Given the description of an element on the screen output the (x, y) to click on. 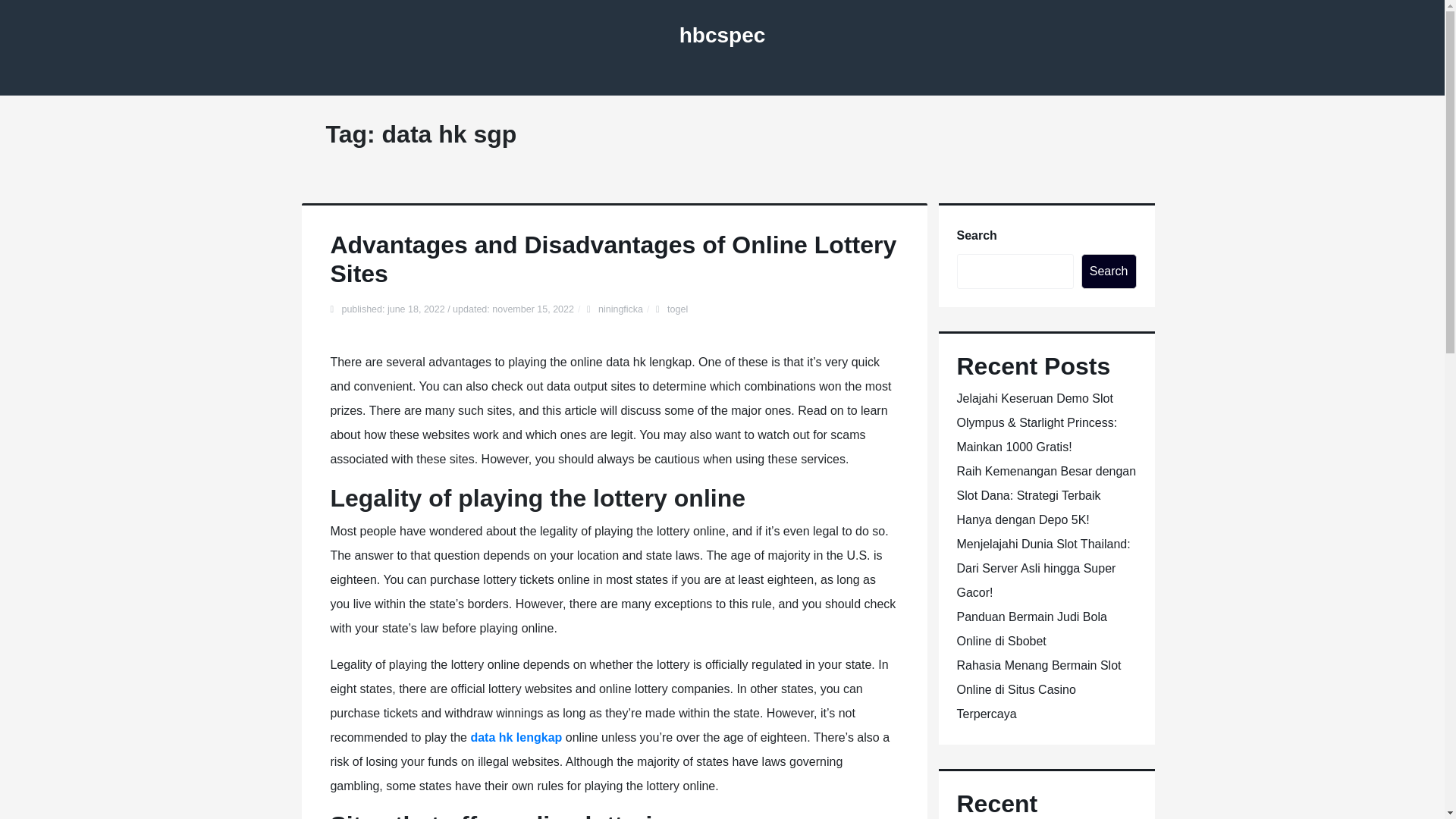
Advantages and Disadvantages of Online Lottery Sites (613, 258)
Search (1109, 271)
togel (676, 308)
data hk lengkap (516, 737)
niningficka (620, 308)
Panduan Bermain Judi Bola Online di Sbobet (1031, 628)
hbcspec (722, 34)
